Given the description of an element on the screen output the (x, y) to click on. 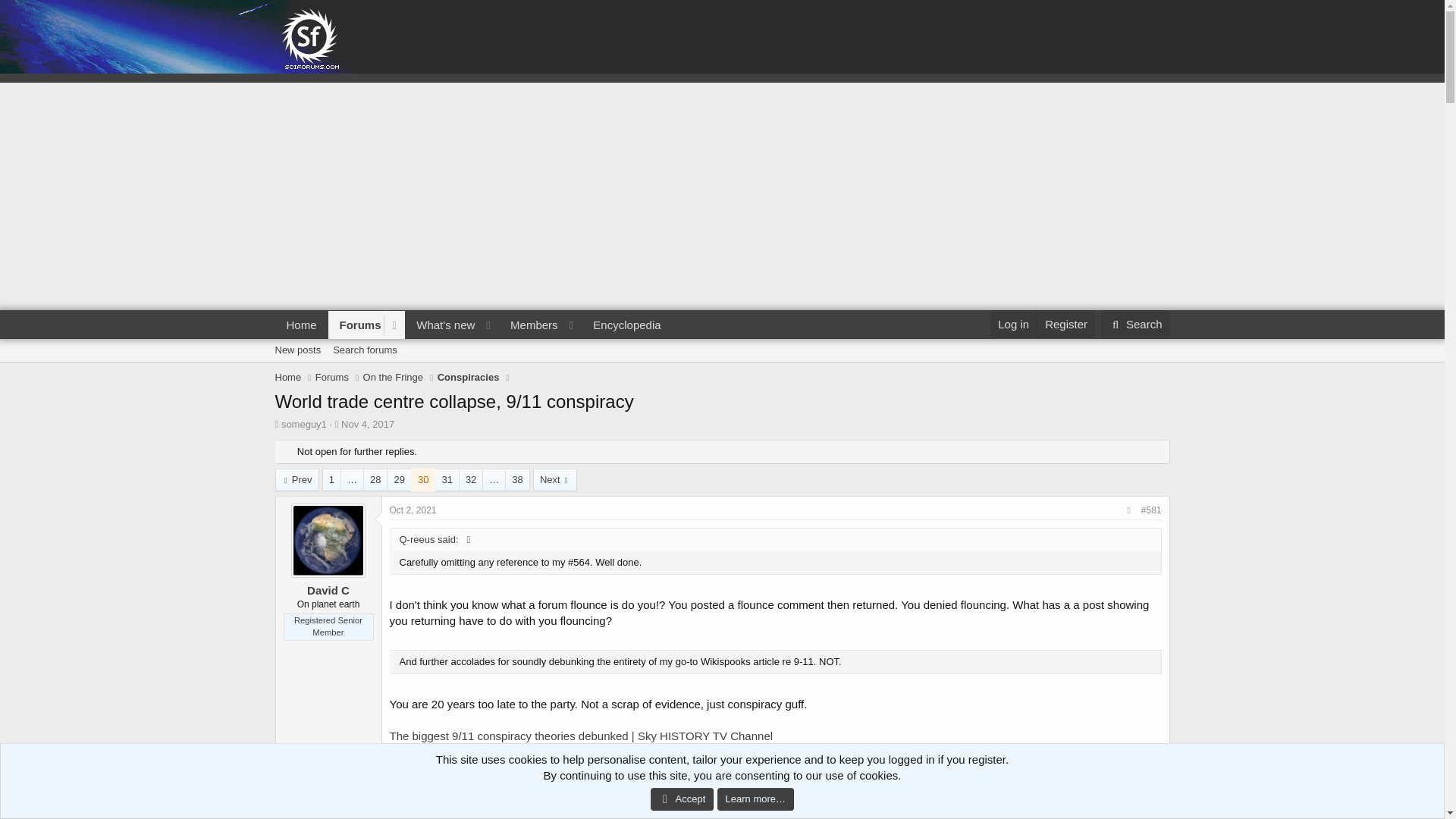
Prev (472, 342)
Forums (296, 479)
Home (356, 325)
Encyclopedia (301, 325)
Advertisement (625, 325)
Search (1065, 324)
Home (1135, 324)
Nov 4, 2017 (288, 377)
New posts (367, 423)
Search forums (296, 350)
Nov 4, 2017 at 5:29 AM (720, 367)
On the Fringe (364, 350)
